Given the description of an element on the screen output the (x, y) to click on. 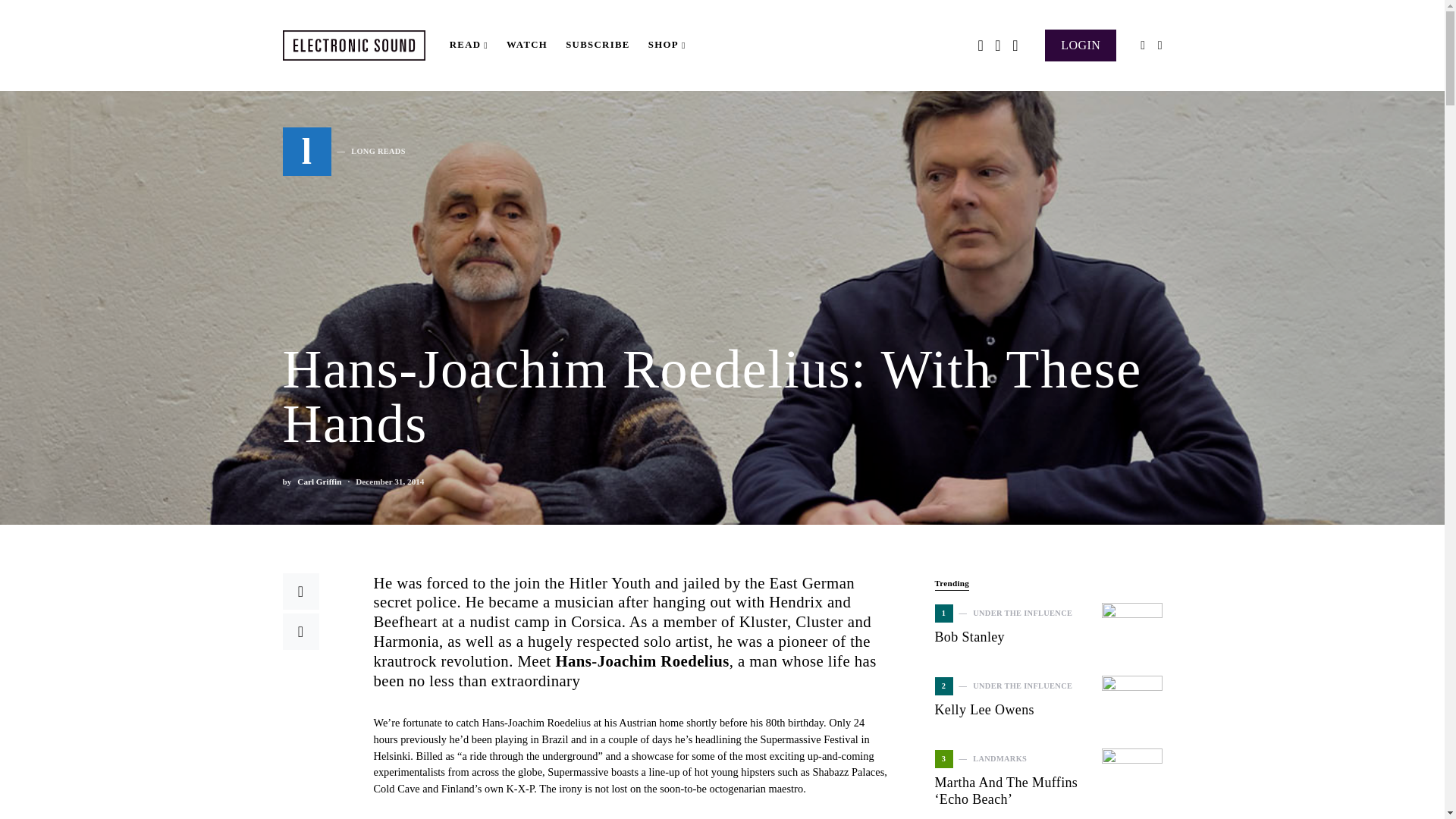
Carl Griffin (318, 481)
SUBSCRIBE (597, 45)
View all posts by Carl Griffin (343, 151)
LOGIN (318, 481)
